Given the description of an element on the screen output the (x, y) to click on. 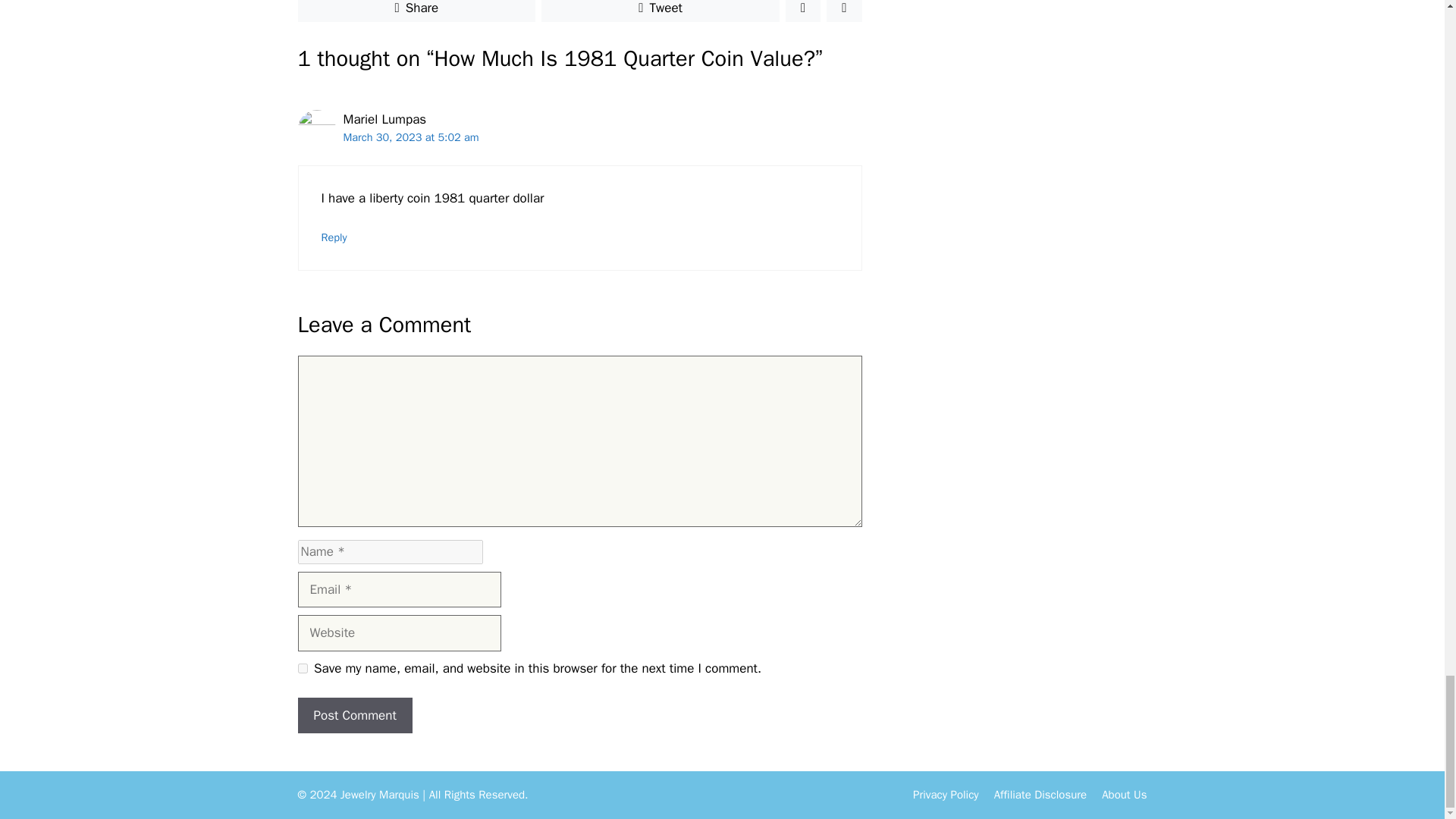
Tweet (659, 11)
Post Comment (354, 715)
Privacy Policy (945, 794)
Share (416, 11)
March 30, 2023 at 5:02 am (410, 137)
yes (302, 668)
Post Comment (354, 715)
Reply (334, 237)
